Given the description of an element on the screen output the (x, y) to click on. 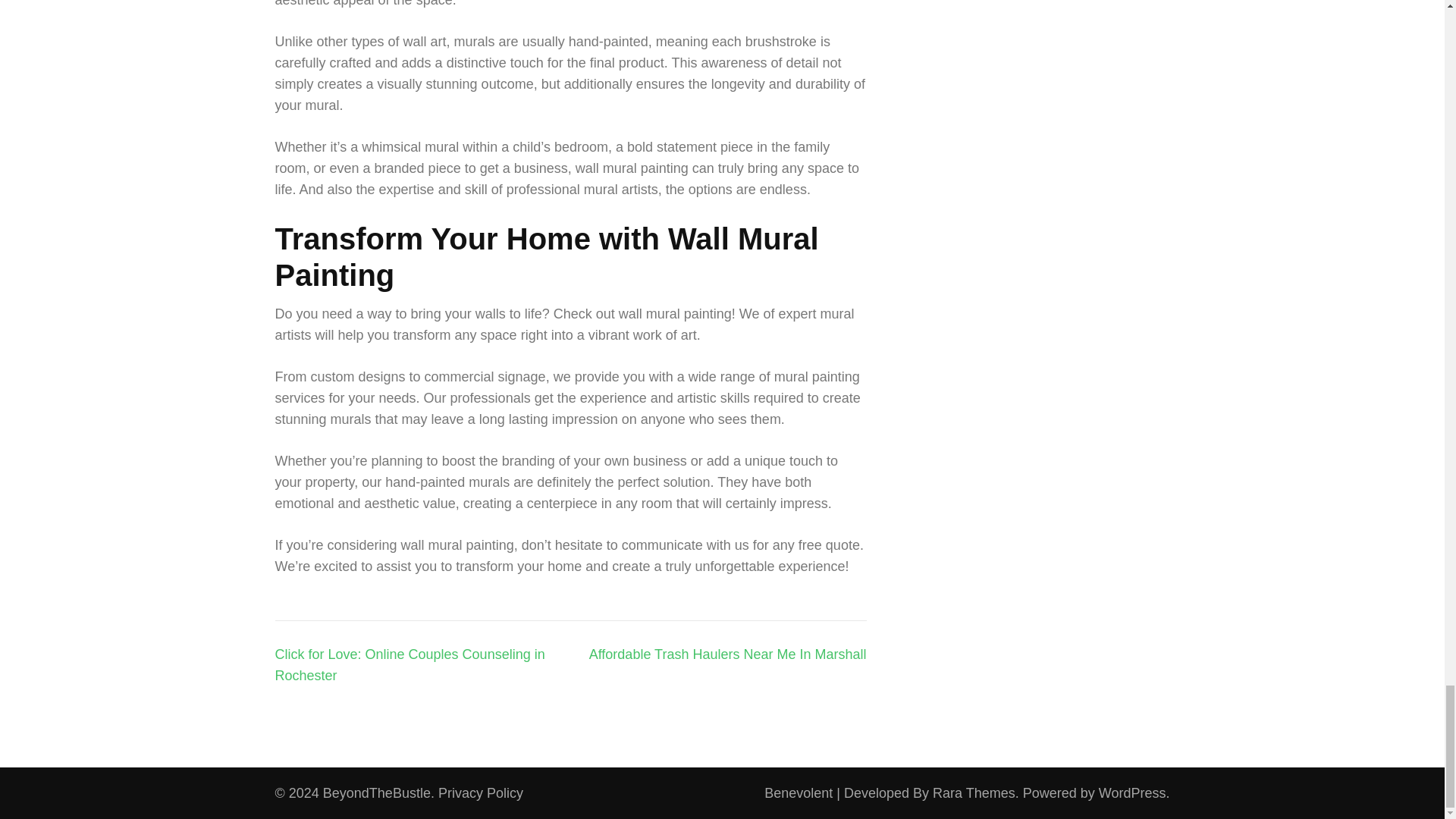
Affordable Trash Haulers Near Me In Marshall (727, 654)
Click for Love: Online Couples Counseling in Rochester (409, 665)
